Given the description of an element on the screen output the (x, y) to click on. 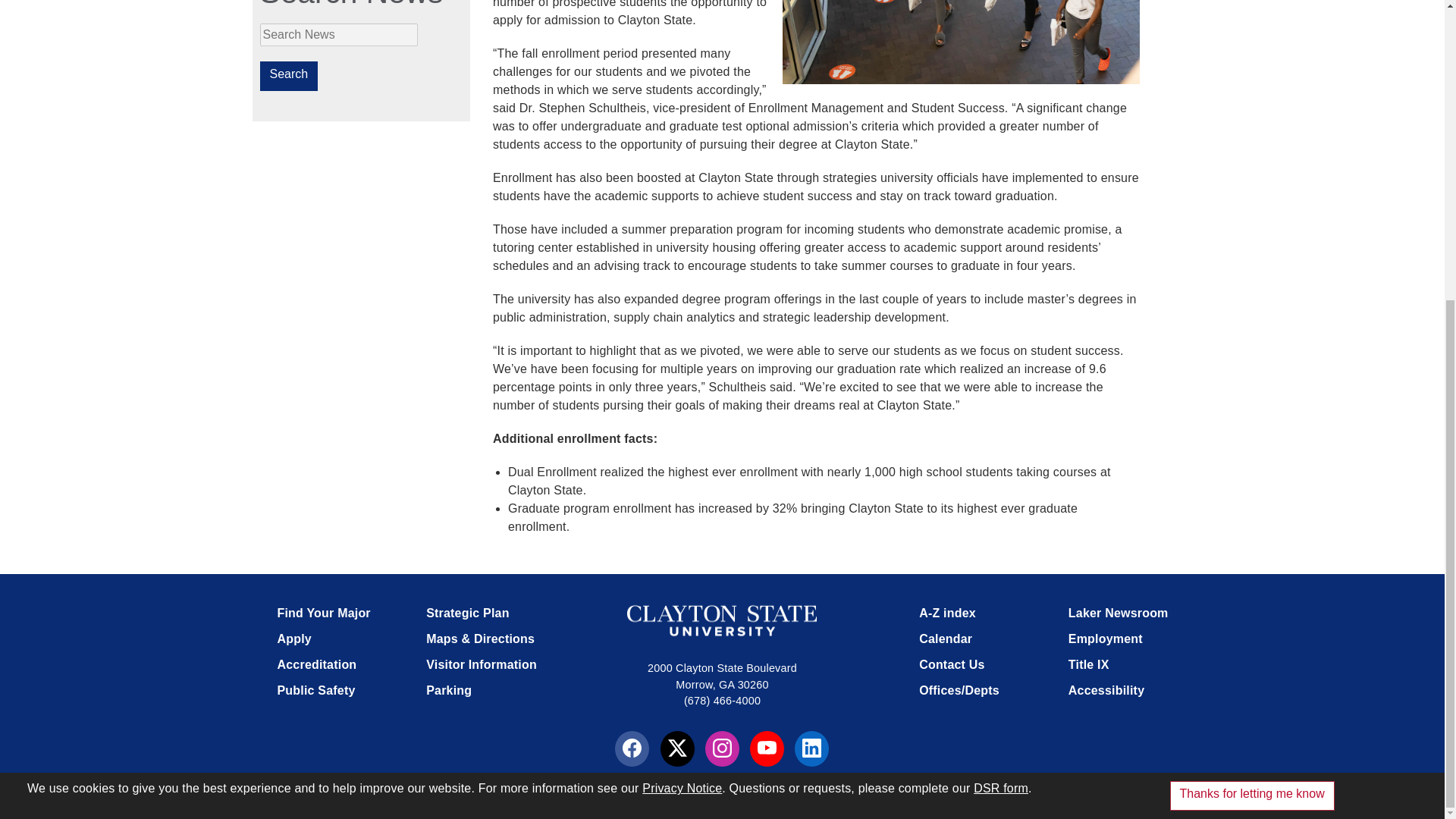
Clayton State (721, 619)
DSR form (1000, 320)
Privacy Notice (682, 320)
Thanks for letting me know (1252, 328)
